Given the description of an element on the screen output the (x, y) to click on. 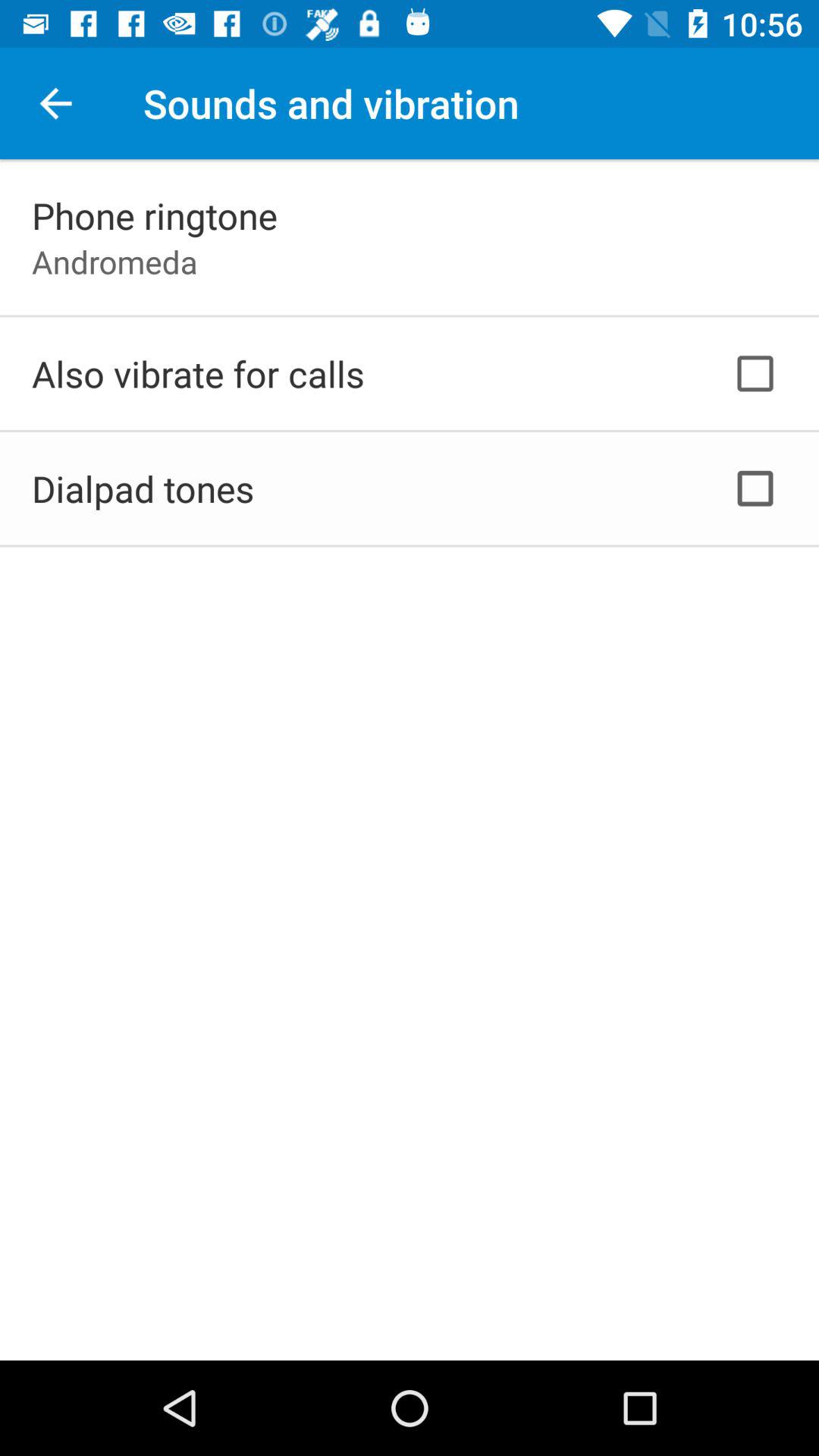
choose the item above phone ringtone icon (55, 103)
